Given the description of an element on the screen output the (x, y) to click on. 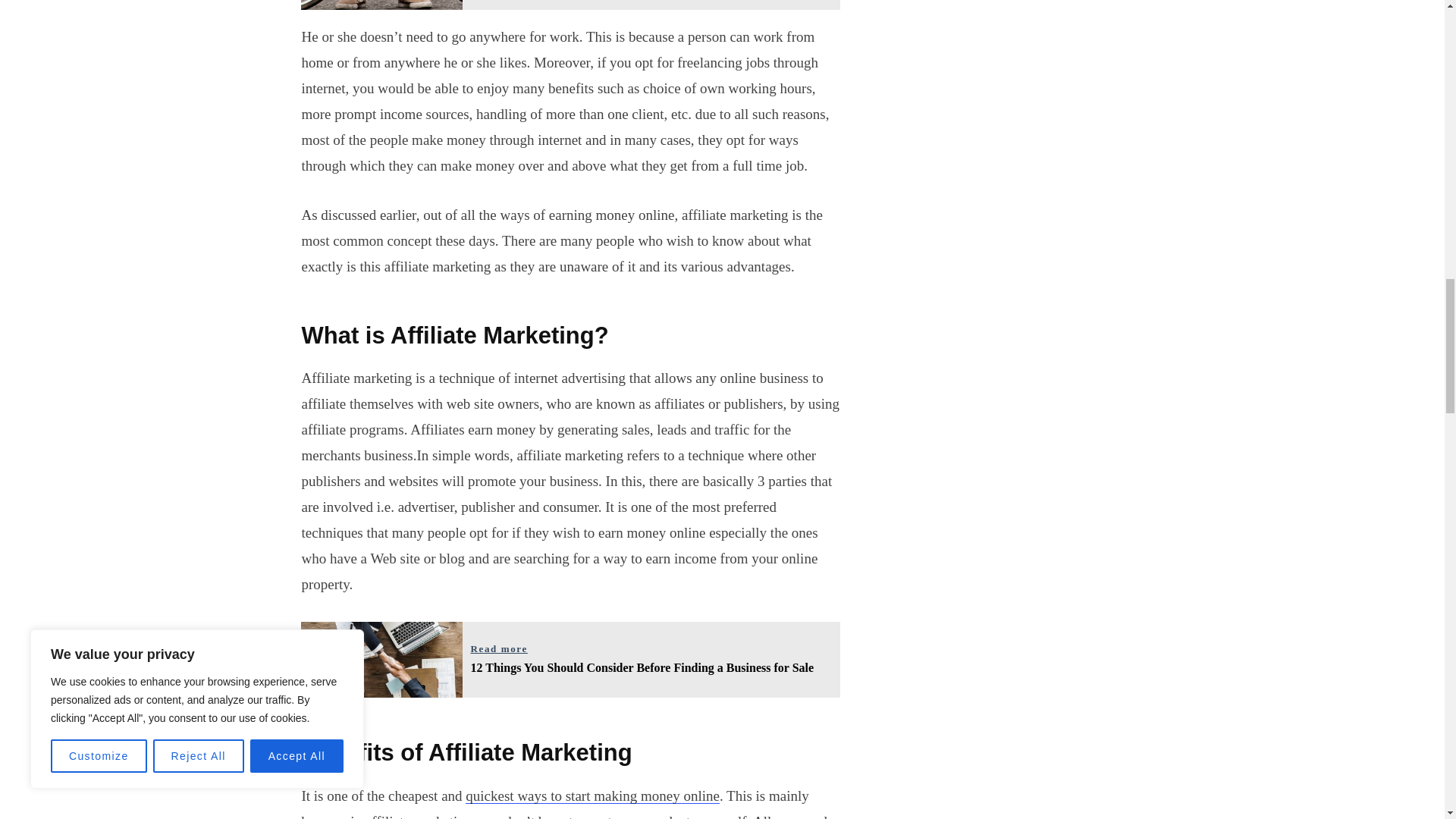
quickest ways to start making money online (570, 4)
